Given the description of an element on the screen output the (x, y) to click on. 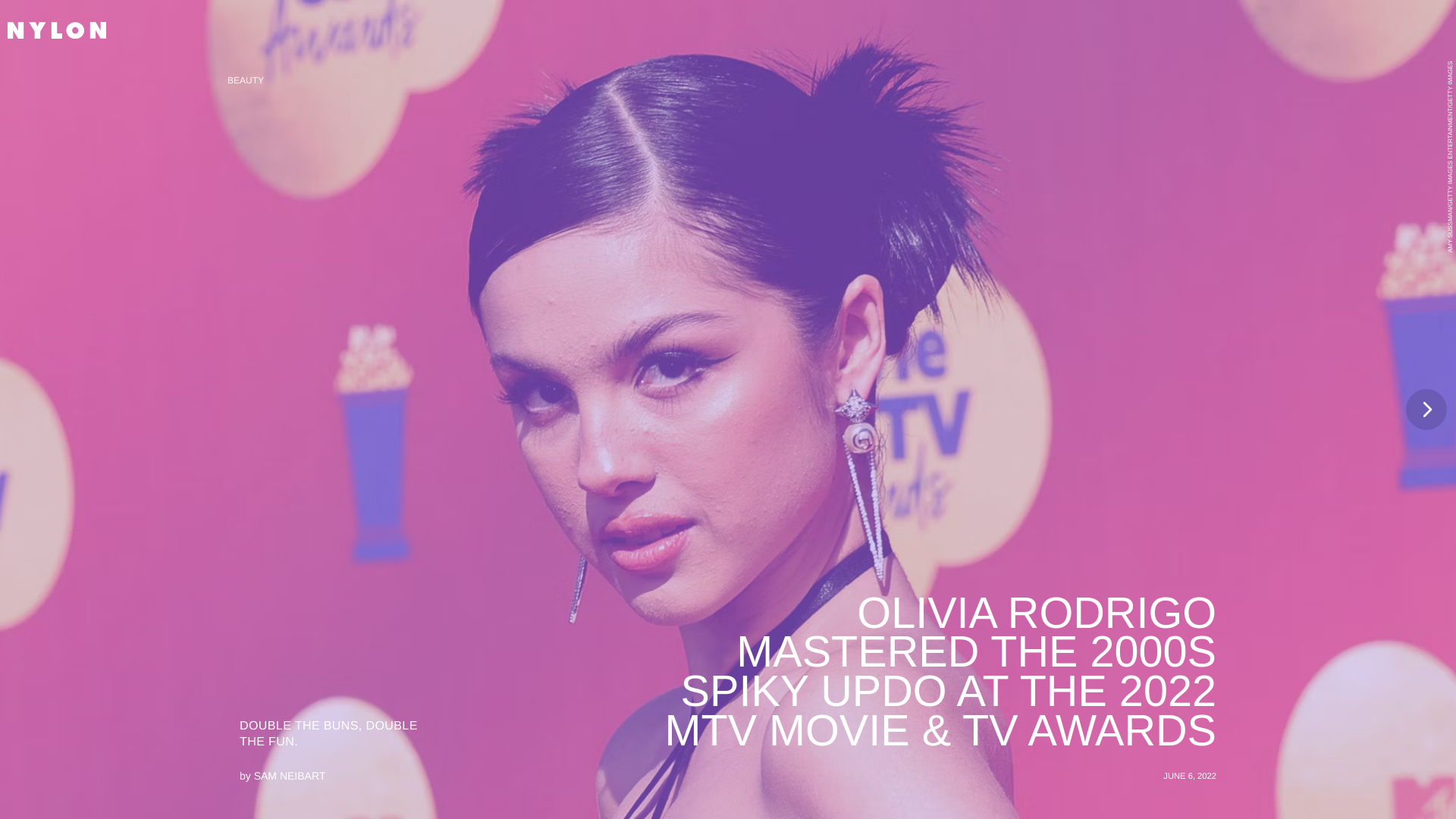
SAM NEIBART (289, 775)
